Given the description of an element on the screen output the (x, y) to click on. 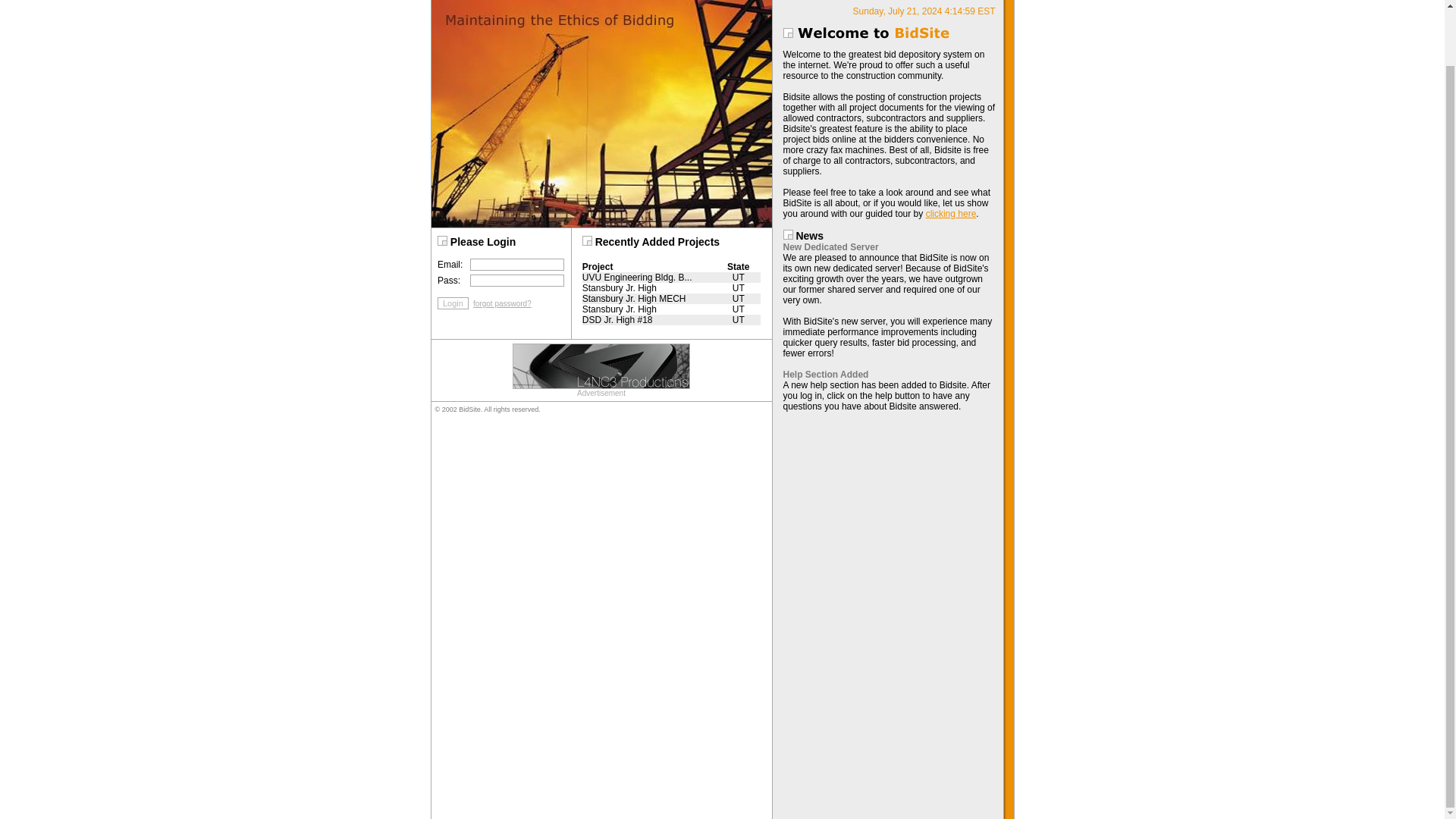
clicking here (951, 213)
Login (453, 303)
 forgot password? (500, 303)
